Given the description of an element on the screen output the (x, y) to click on. 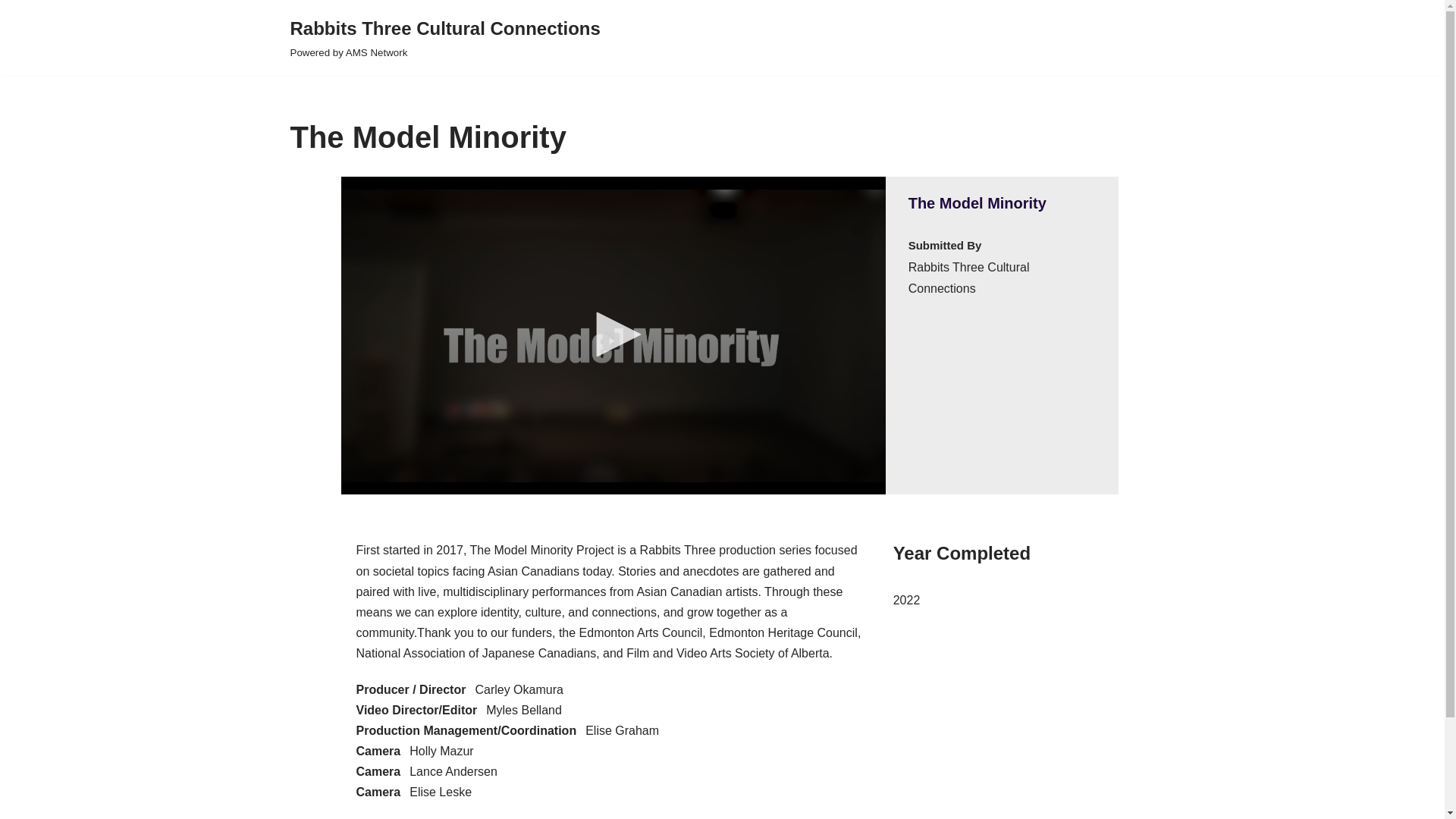
Skip to content Element type: text (11, 31)
